Given the description of an element on the screen output the (x, y) to click on. 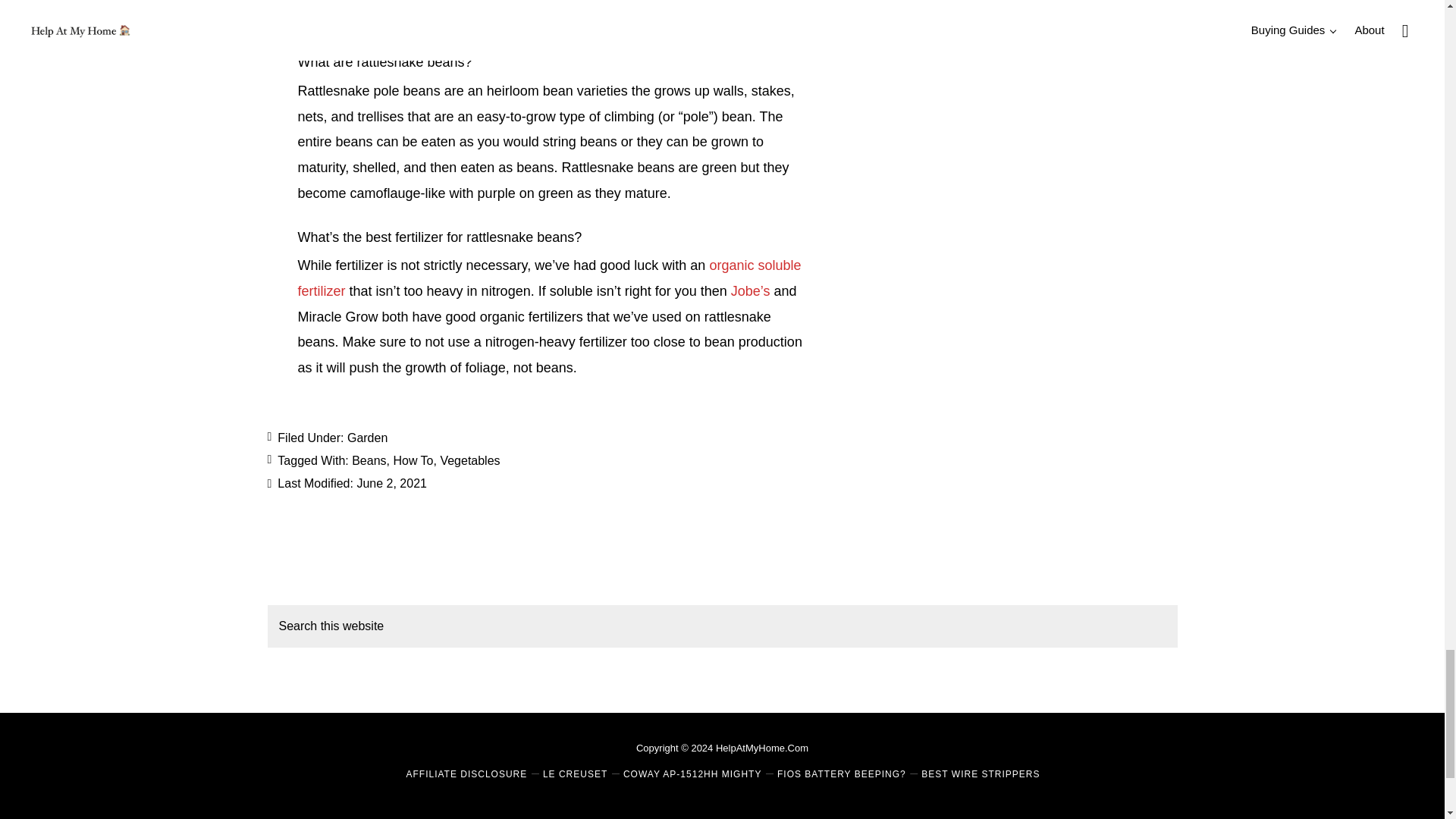
Beans (368, 460)
Garden (367, 437)
Vegetables (469, 460)
organic soluble fertilizer (548, 277)
How To (412, 460)
Search (1153, 620)
Search (1153, 620)
